Given the description of an element on the screen output the (x, y) to click on. 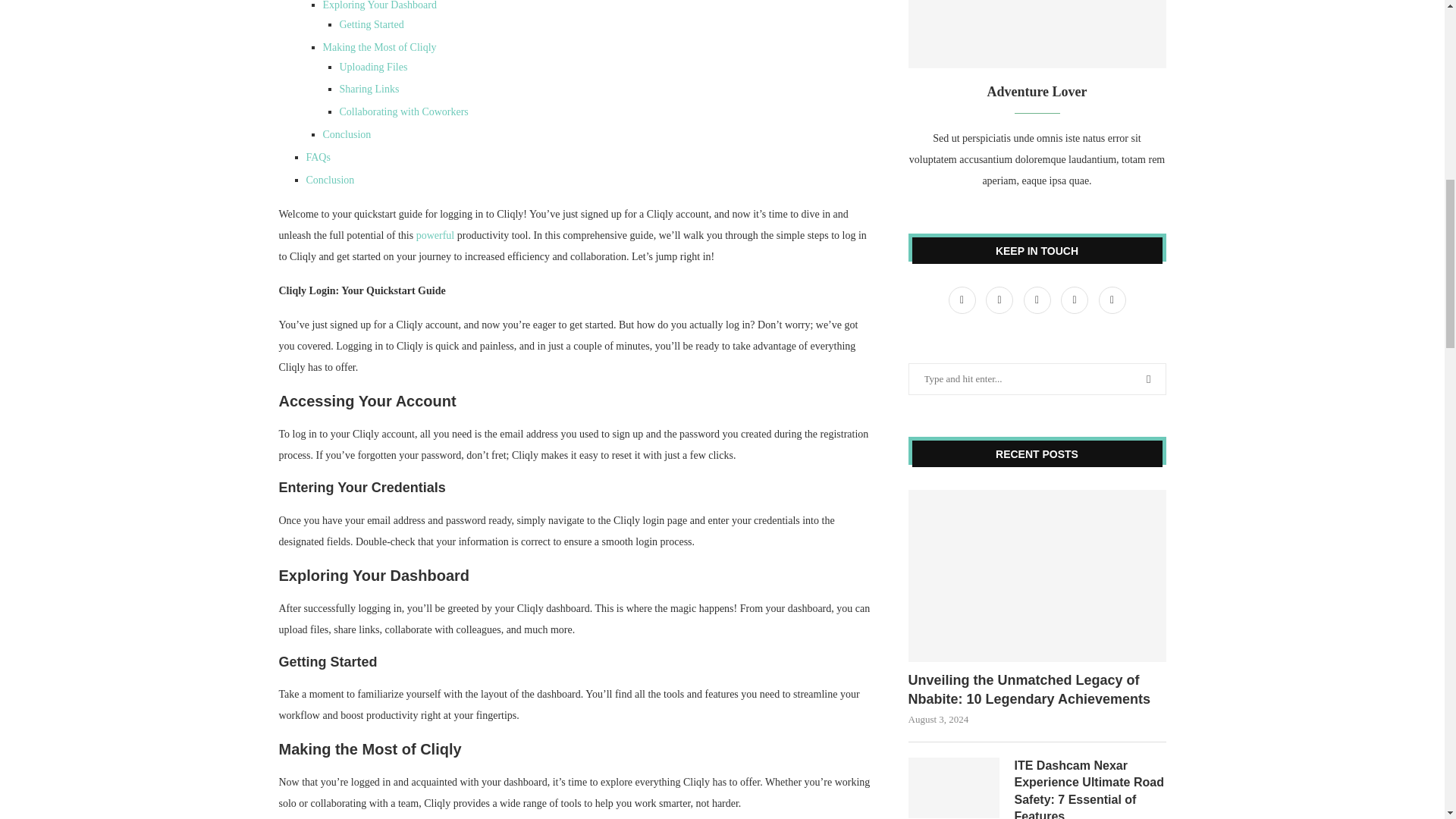
Conclusion (347, 134)
FAQs (317, 156)
Making the Most of Cliqly (379, 47)
Sharing Links (368, 89)
Sharing Links (368, 89)
Conclusion (330, 179)
Uploading Files (373, 66)
FAQs (317, 156)
Conclusion (347, 134)
Getting Started (371, 24)
